Given the description of an element on the screen output the (x, y) to click on. 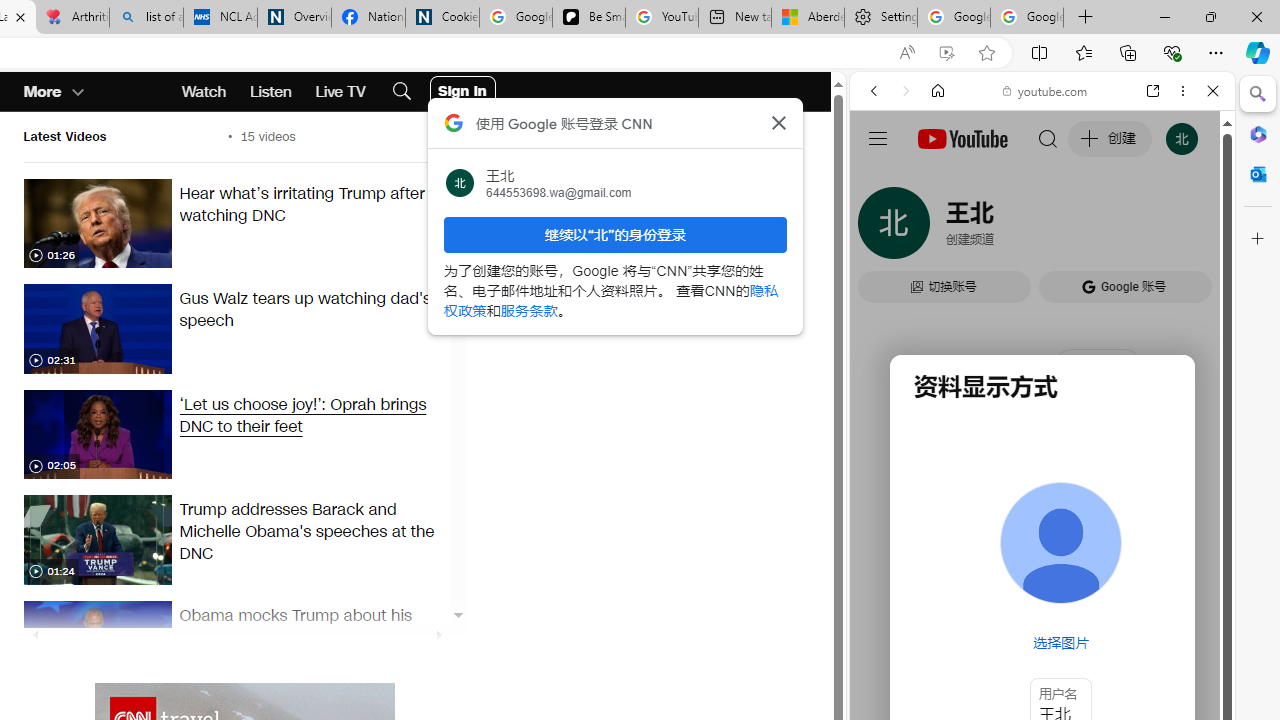
Trailer #2 [HD] (1042, 594)
Cookies (441, 17)
Class: Bz112c Bz112c-r9oPif (778, 122)
Be Smart | creating Science videos | Patreon (588, 17)
